Given the description of an element on the screen output the (x, y) to click on. 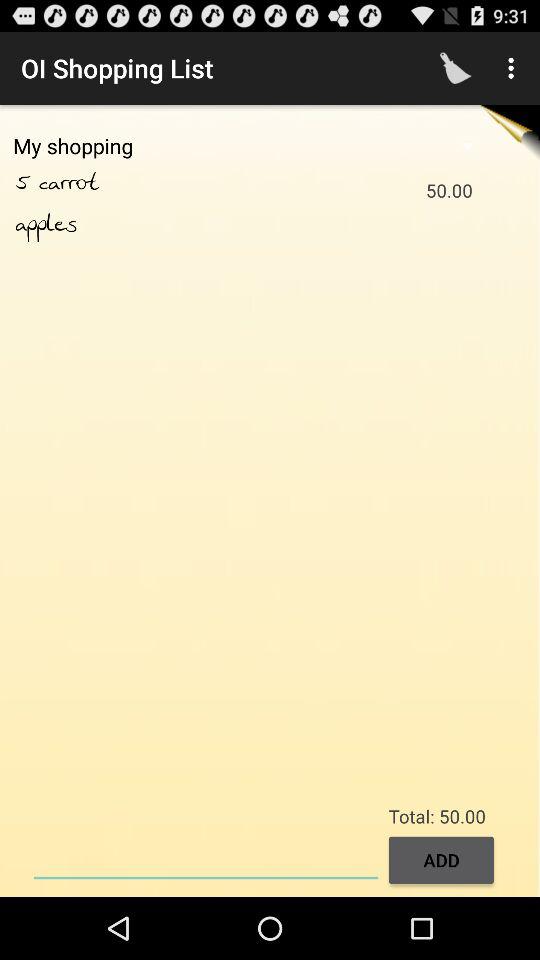
enter new items (205, 858)
